Given the description of an element on the screen output the (x, y) to click on. 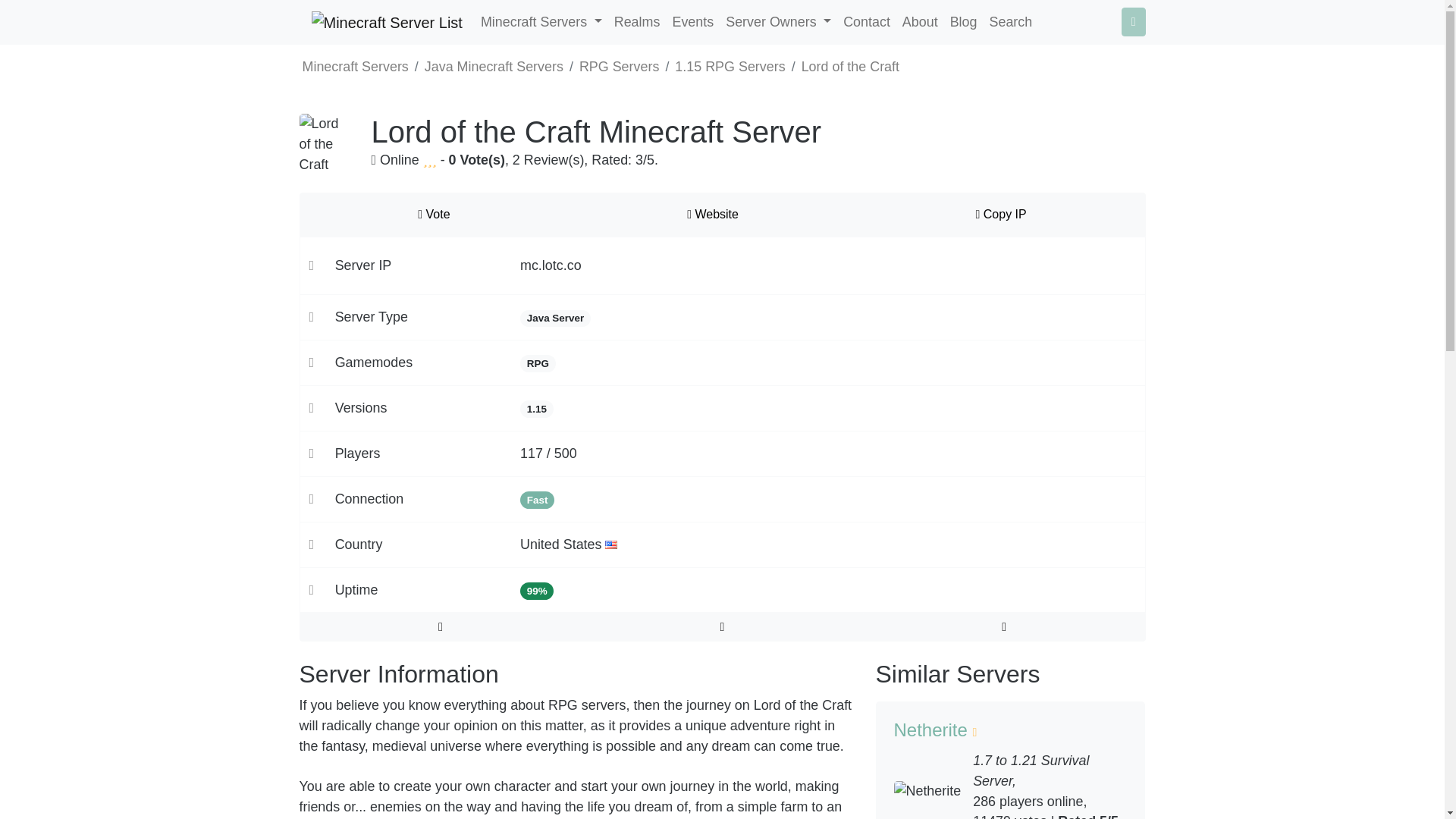
This server features RPG. (537, 363)
117 Players online right now. Up to 500 can join. (547, 453)
You can play using Minecraft Java Edition. (555, 318)
This server supports Minecraft version 1.15. (536, 408)
Ping: 7ms (536, 499)
Minecraft Servers (541, 21)
